Given the description of an element on the screen output the (x, y) to click on. 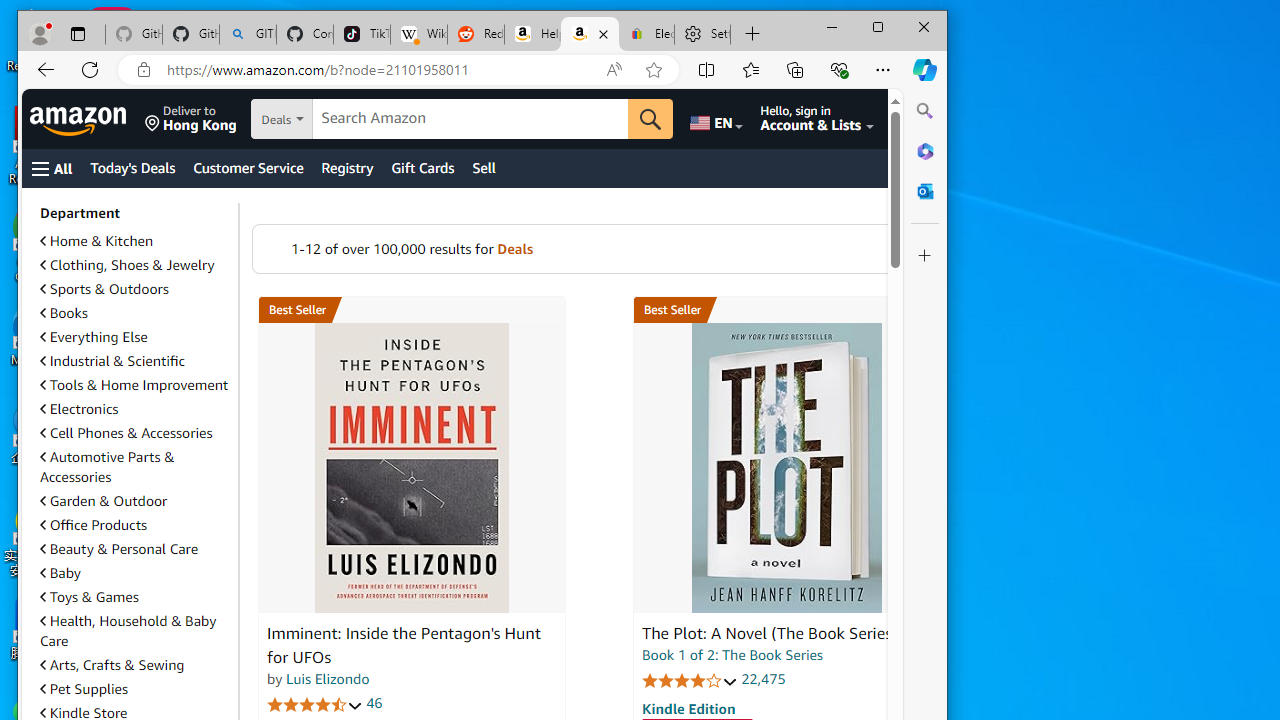
Deliver to Hong Kong (190, 119)
Kindle Edition (689, 708)
The Plot: A Novel (The Book Series 1) (786, 467)
Clothing, Shoes & Jewelry (135, 264)
Search in (350, 120)
Tools & Home Improvement (134, 384)
Health, Household & Baby Care (128, 631)
4.2 out of 5 stars (690, 680)
Automotive Parts & Accessories (135, 466)
Open Menu (52, 168)
TikTok (362, 34)
Help & Contact Us - Amazon Customer Service (532, 34)
Search Amazon (470, 119)
